Given the description of an element on the screen output the (x, y) to click on. 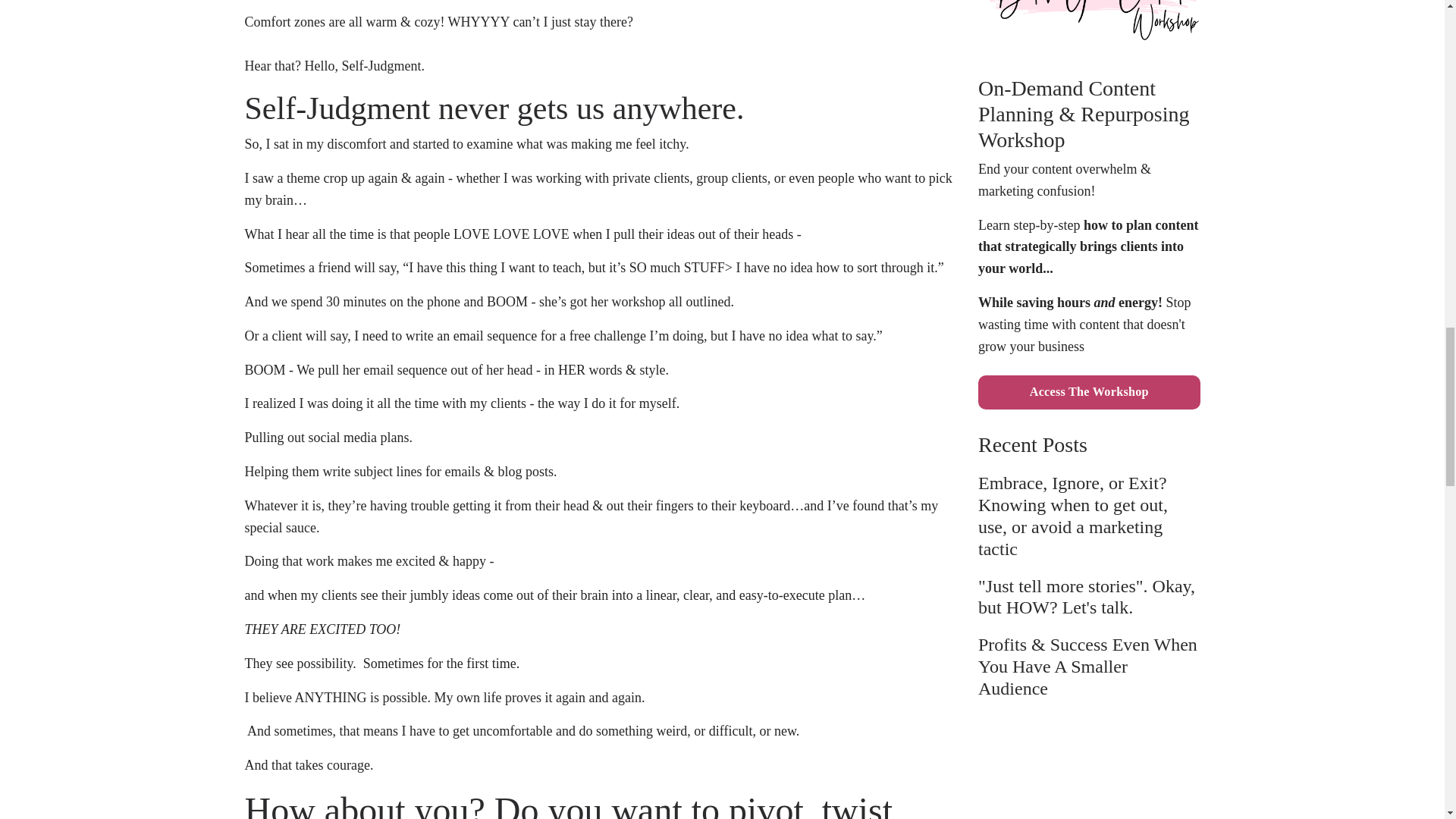
"Just tell more stories". Okay, but HOW? Let's talk. (1088, 597)
Access The Workshop (1088, 391)
